Given the description of an element on the screen output the (x, y) to click on. 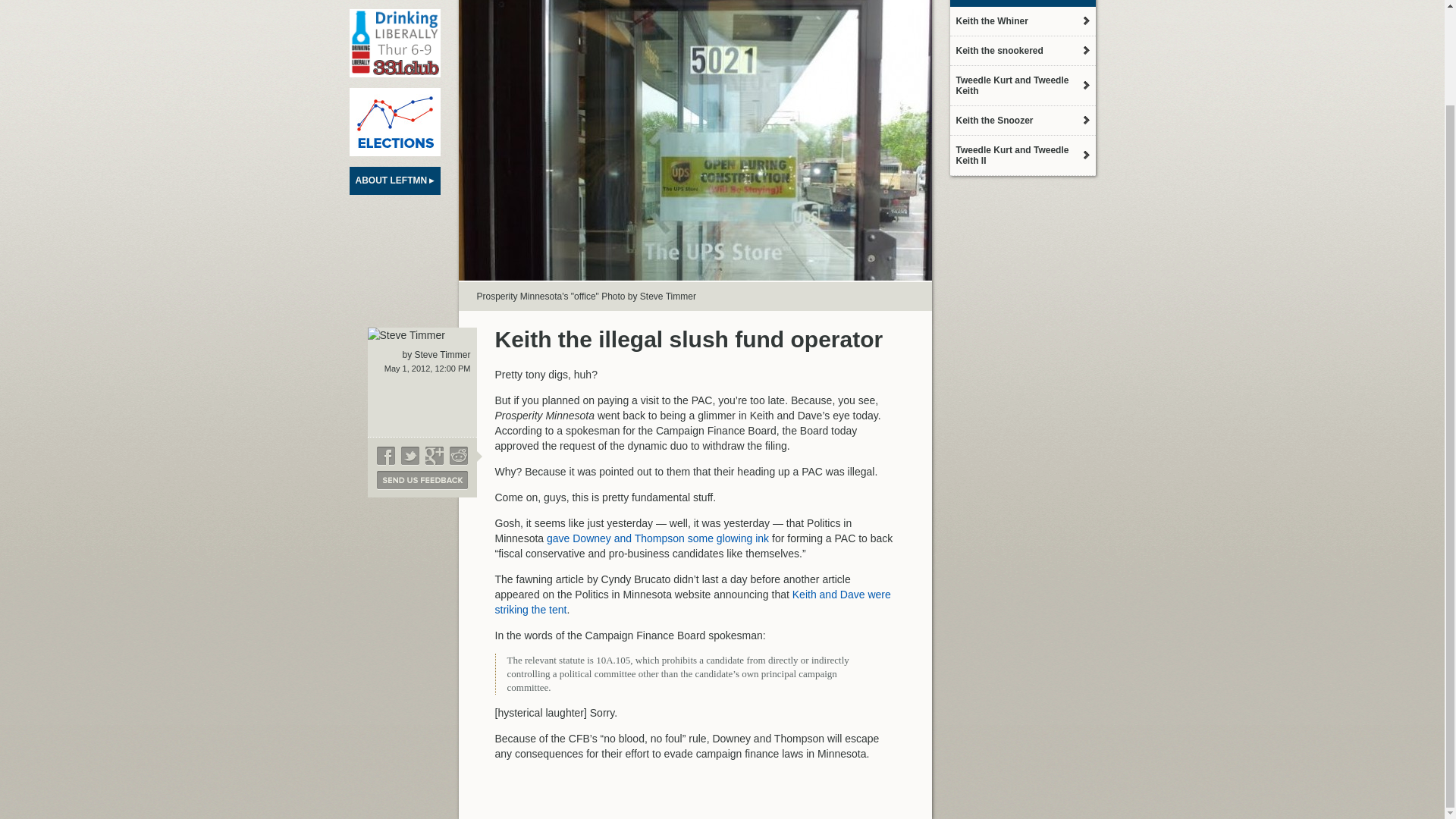
Keith the Snoozer (1021, 120)
Keith the snookered (1021, 50)
gave Downey and Thompson some glowing ink (657, 538)
Tweedle Kurt and Tweedle Keith II (1021, 155)
Keith and Dave were striking the tent (692, 601)
Tweedle Kurt and Tweedle Keith (1021, 85)
LeftMN Elections Site (394, 121)
Drinking Liberally Minneapolis (394, 42)
Keith the Whiner (1021, 21)
